Given the description of an element on the screen output the (x, y) to click on. 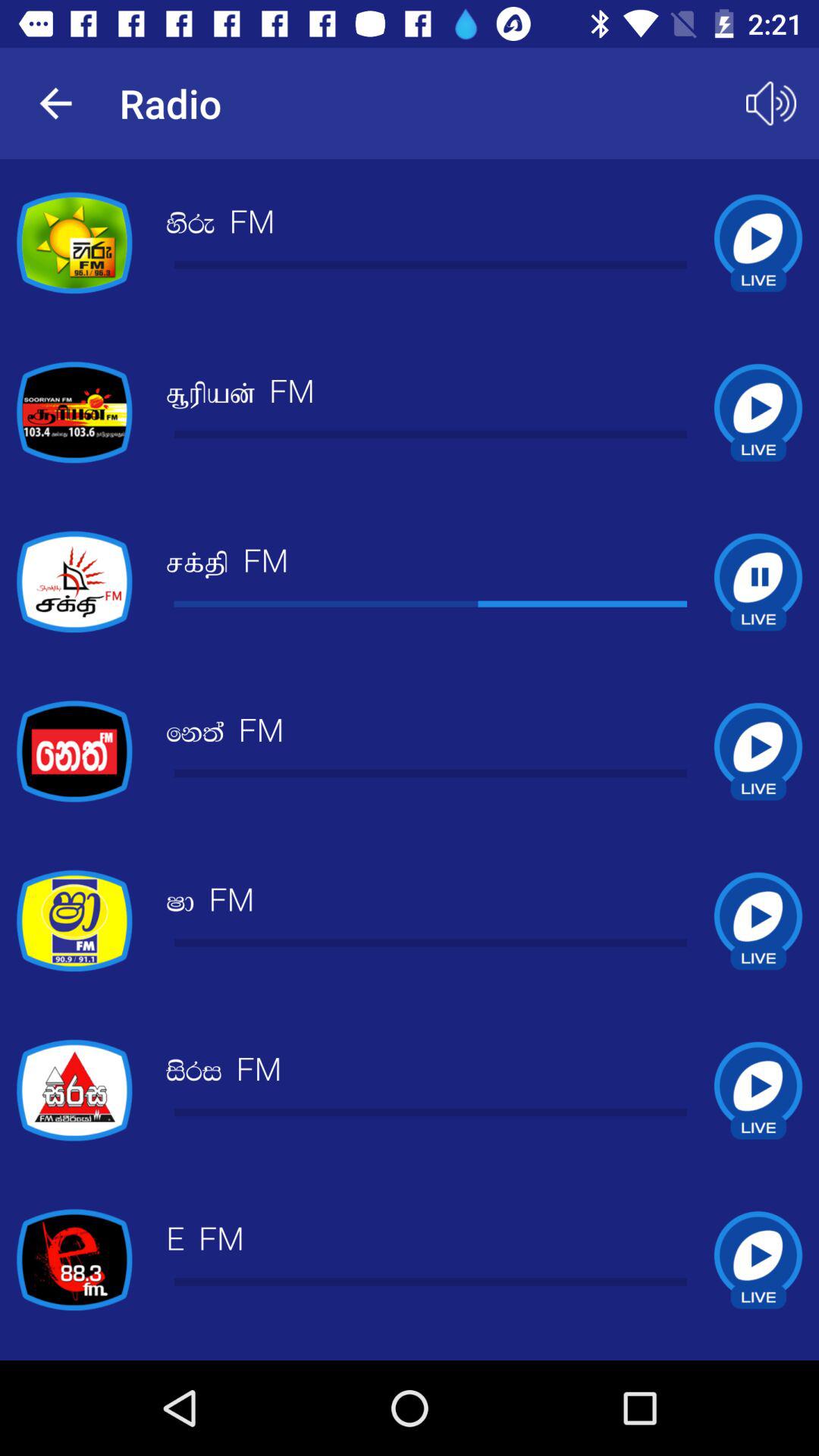
tap the app to the left of radio app (55, 103)
